Given the description of an element on the screen output the (x, y) to click on. 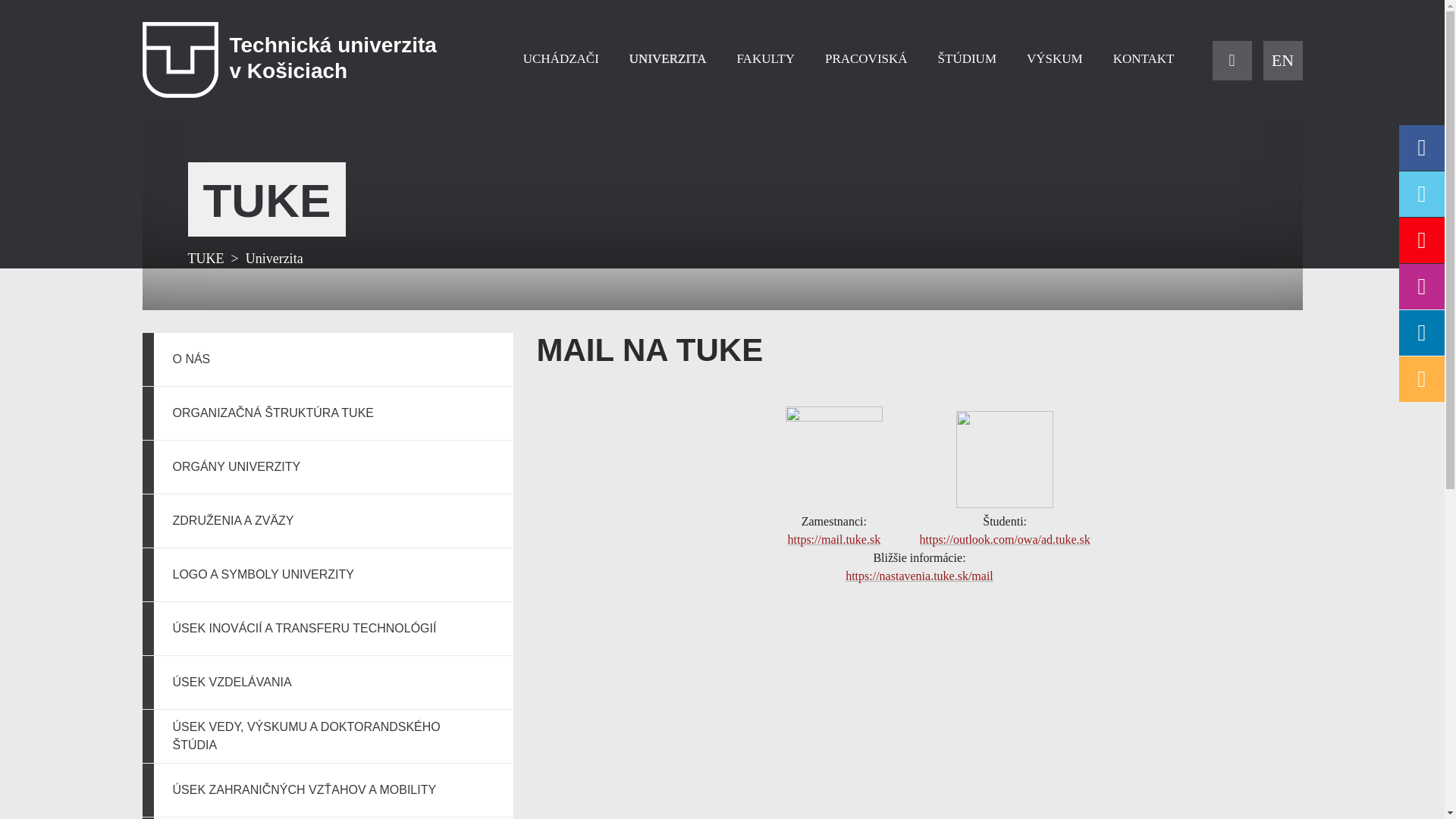
FAKULTY (764, 58)
UNIVERZITA (668, 58)
